Given the description of an element on the screen output the (x, y) to click on. 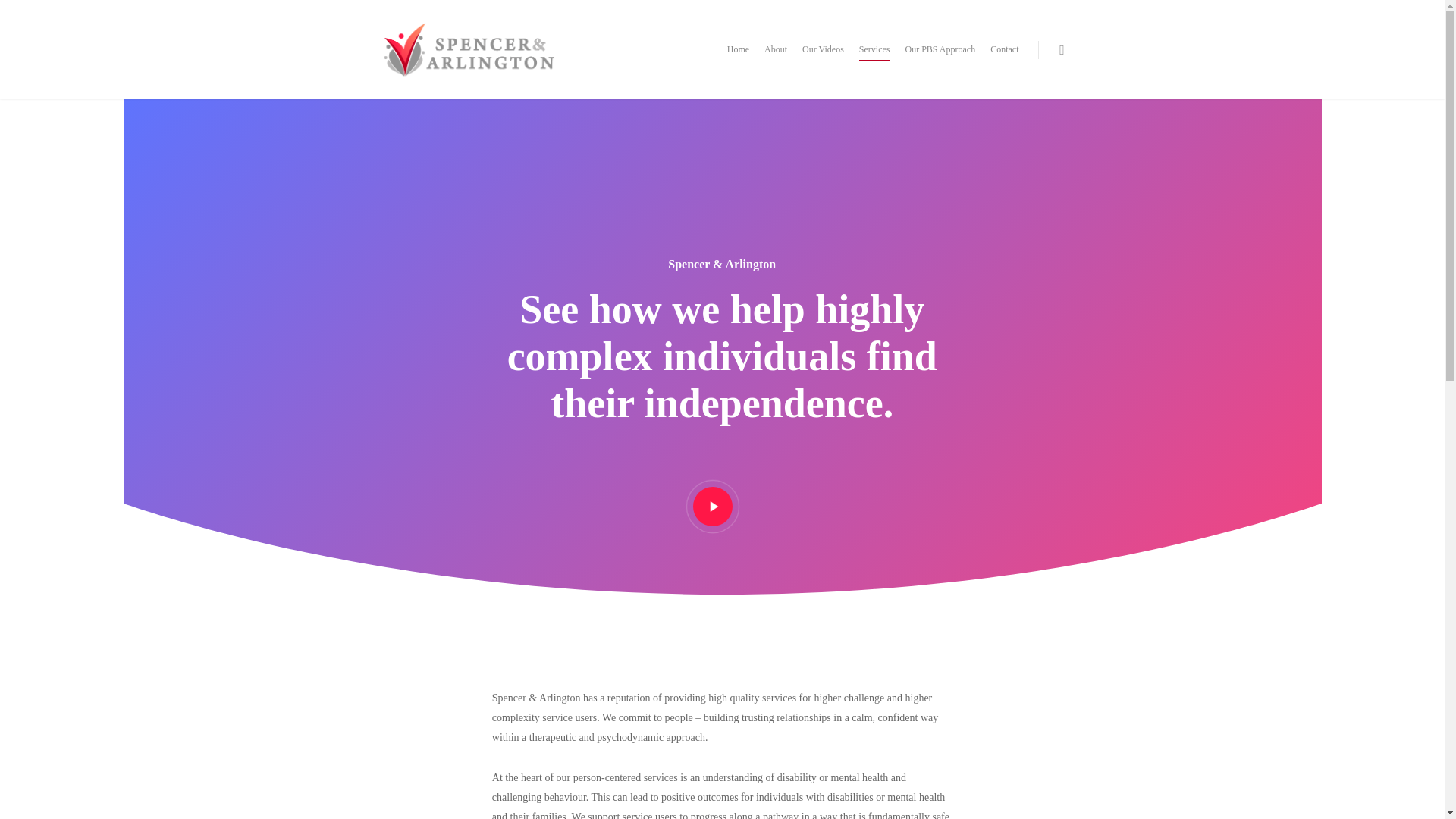
Our PBS Approach (940, 59)
